Given the description of an element on the screen output the (x, y) to click on. 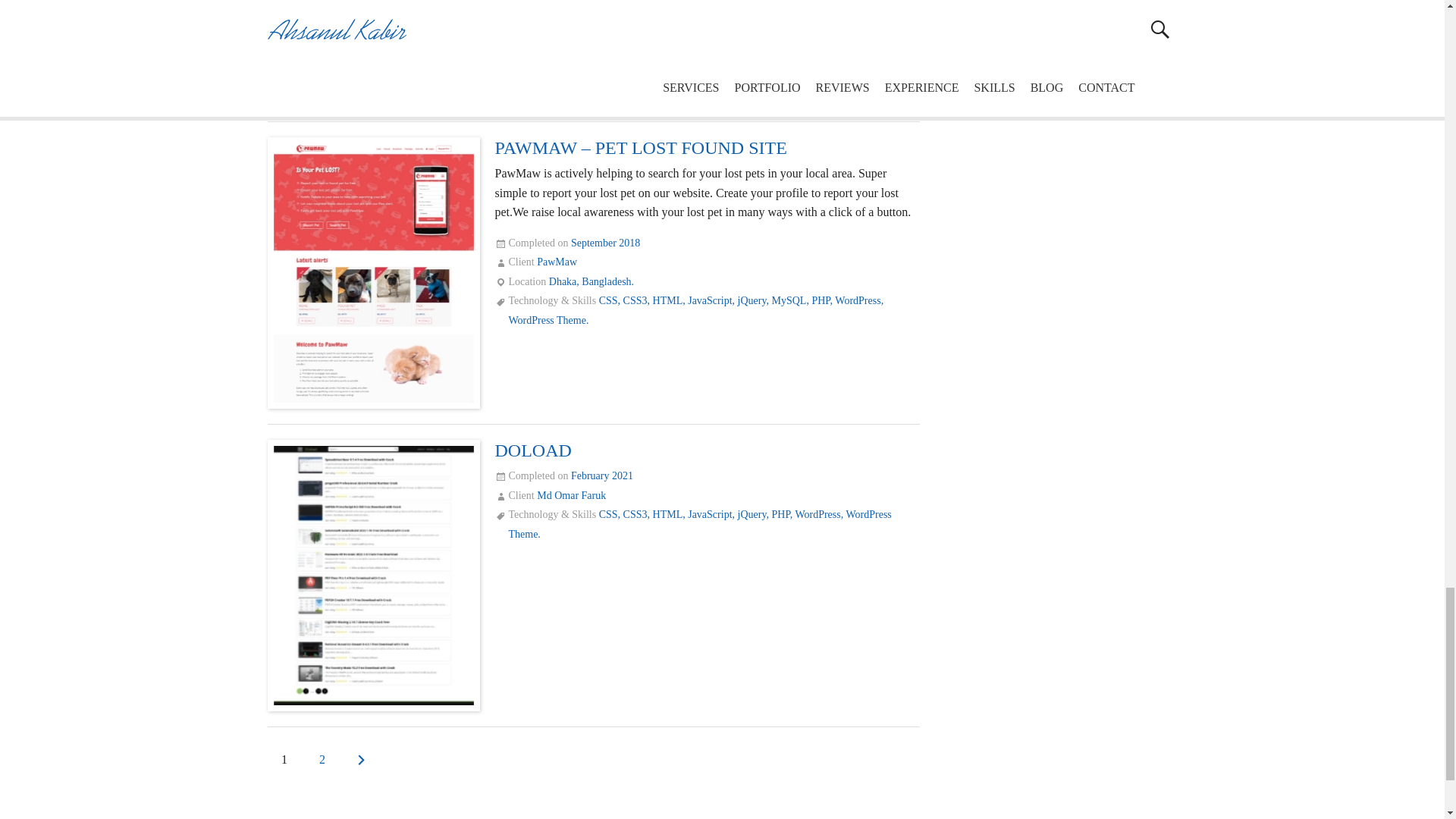
Richmond Hill Historical Society (373, 49)
